Given the description of an element on the screen output the (x, y) to click on. 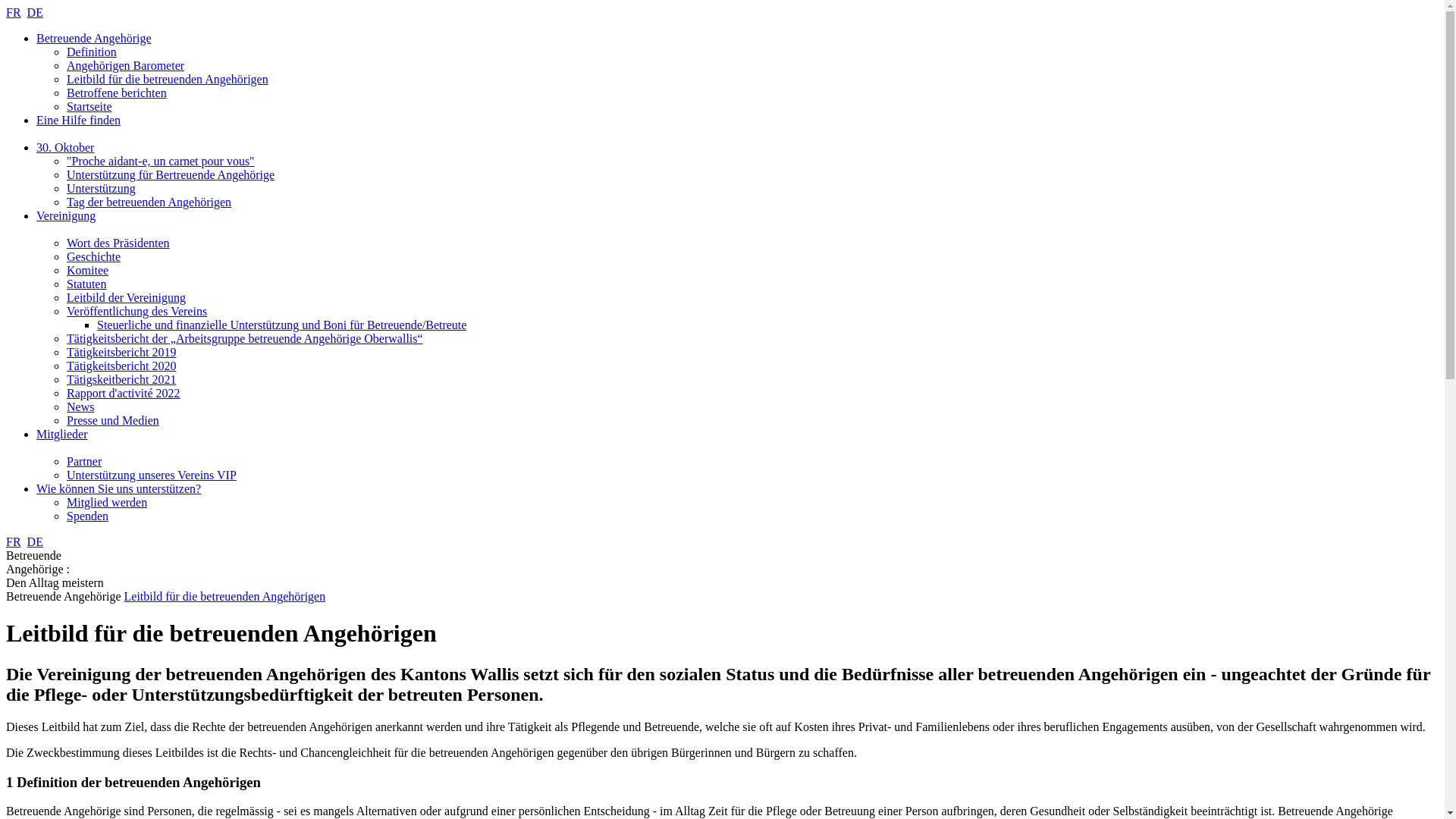
Startseite Element type: text (89, 106)
News Element type: text (80, 406)
Komitee Element type: text (87, 269)
Leitbild der Vereinigung Element type: text (125, 297)
30. Oktober Element type: text (65, 147)
Definition Element type: text (91, 51)
Vereinigung Element type: text (65, 222)
Statuten Element type: text (86, 283)
Presse und Medien Element type: text (112, 420)
Betroffene berichten Element type: text (116, 92)
Spenden Element type: text (87, 515)
Mitglieder Element type: text (61, 440)
DE Element type: text (35, 541)
Mitglied werden Element type: text (106, 501)
Geschichte Element type: text (93, 256)
FR Element type: text (13, 541)
"Proche aidant-e, un carnet pour vous" Element type: text (160, 160)
FR Element type: text (13, 12)
Eine Hilfe finden Element type: text (78, 126)
DE Element type: text (35, 12)
Partner Element type: text (83, 461)
